Given the description of an element on the screen output the (x, y) to click on. 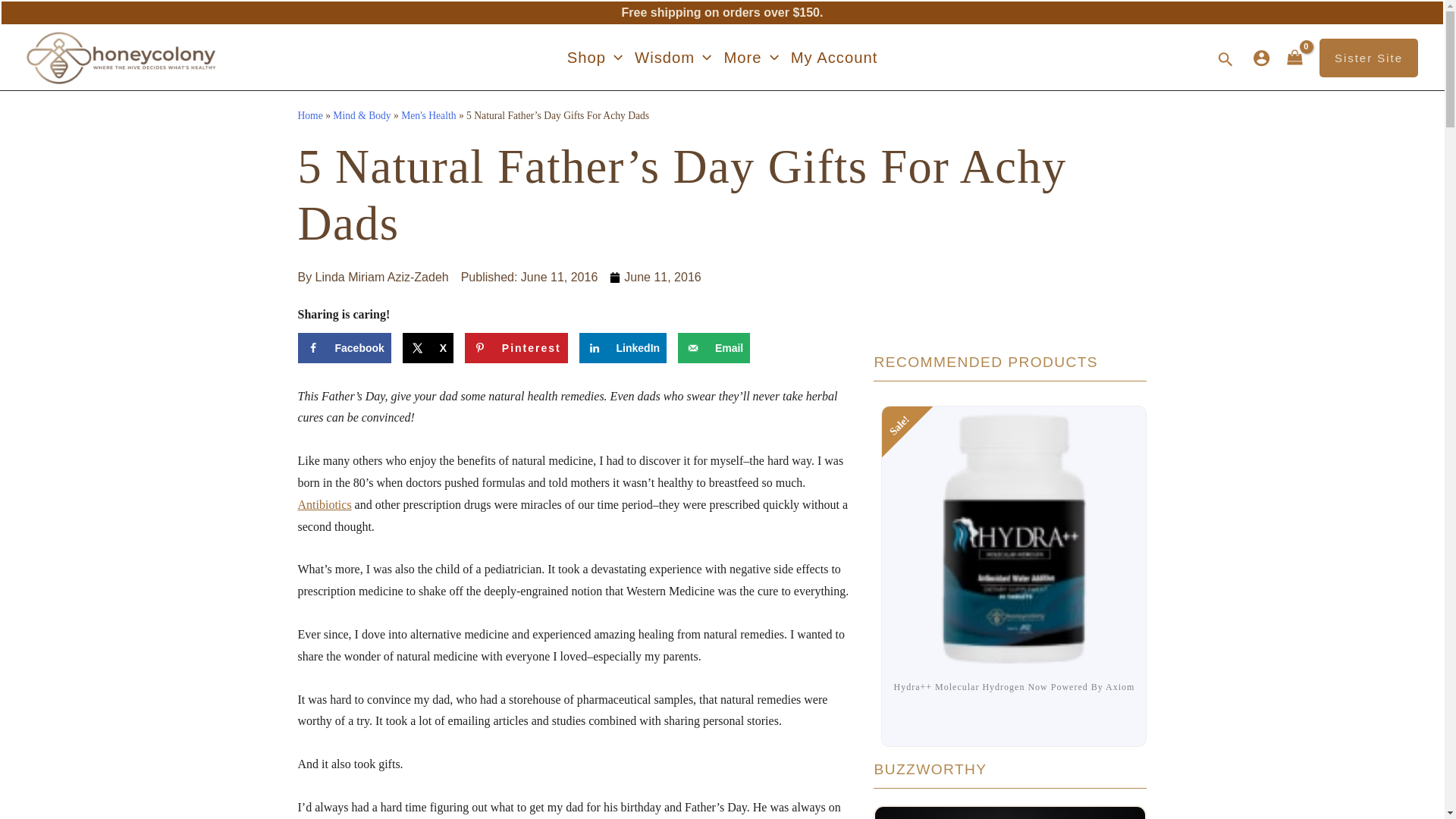
Share on X (427, 347)
Shop (594, 56)
Share on Facebook (343, 347)
Share on LinkedIn (622, 347)
Save to Pinterest (515, 347)
Send over email (713, 347)
